Given the description of an element on the screen output the (x, y) to click on. 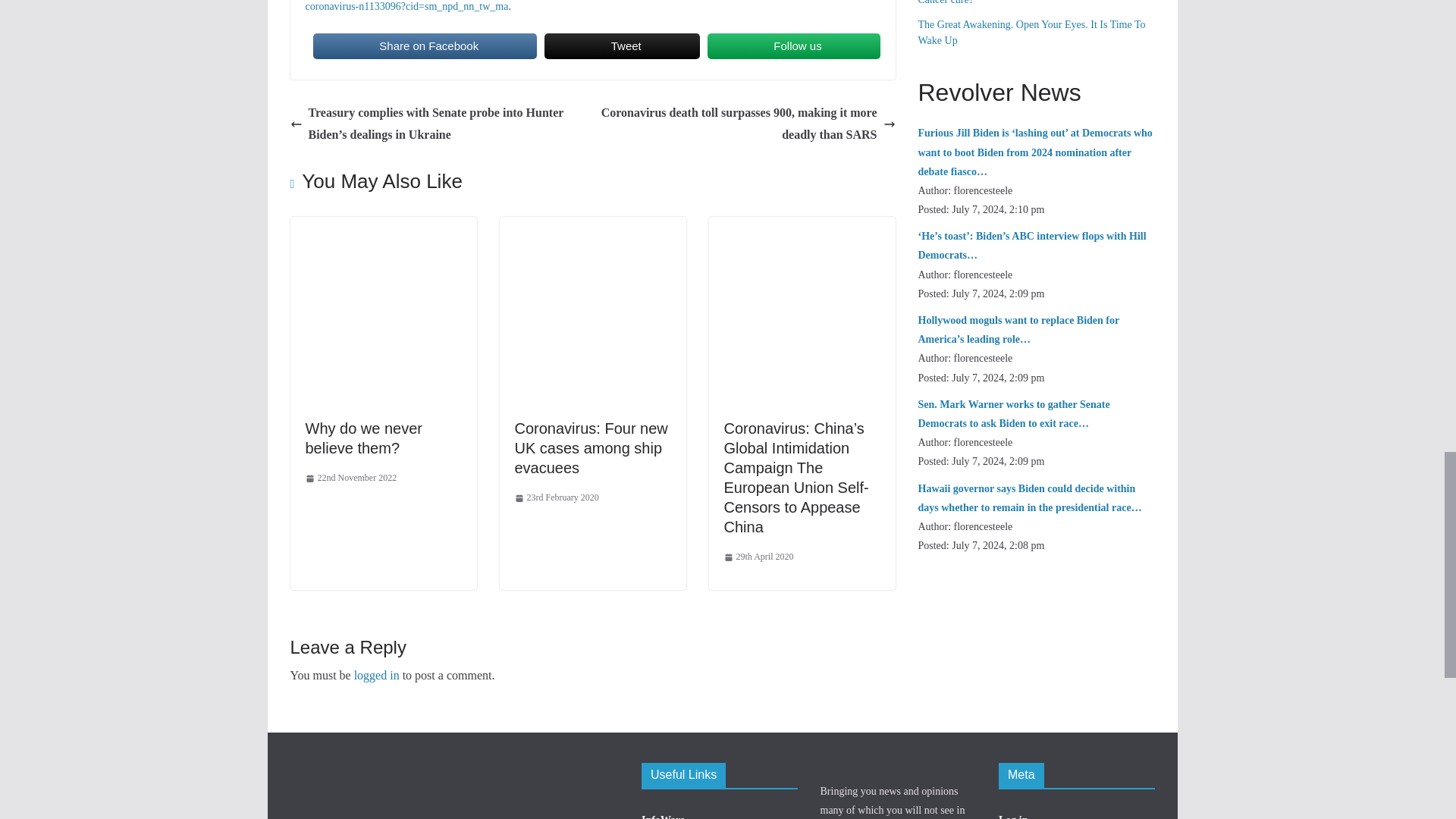
Why do we never believe them? (382, 226)
Why do we never believe them? (363, 438)
8:00 pm (350, 478)
